Given the description of an element on the screen output the (x, y) to click on. 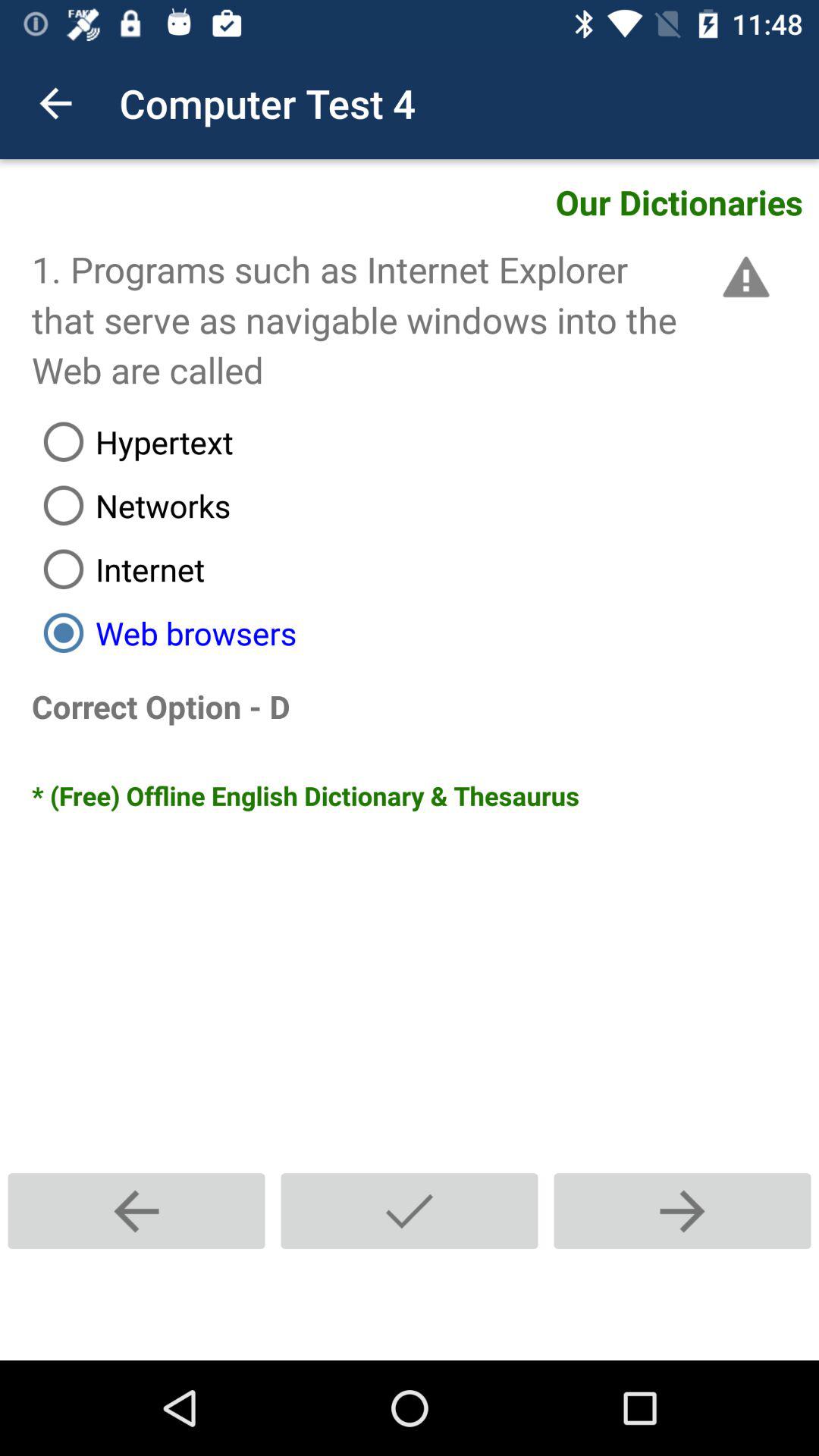
scroll to networks item (425, 505)
